Given the description of an element on the screen output the (x, y) to click on. 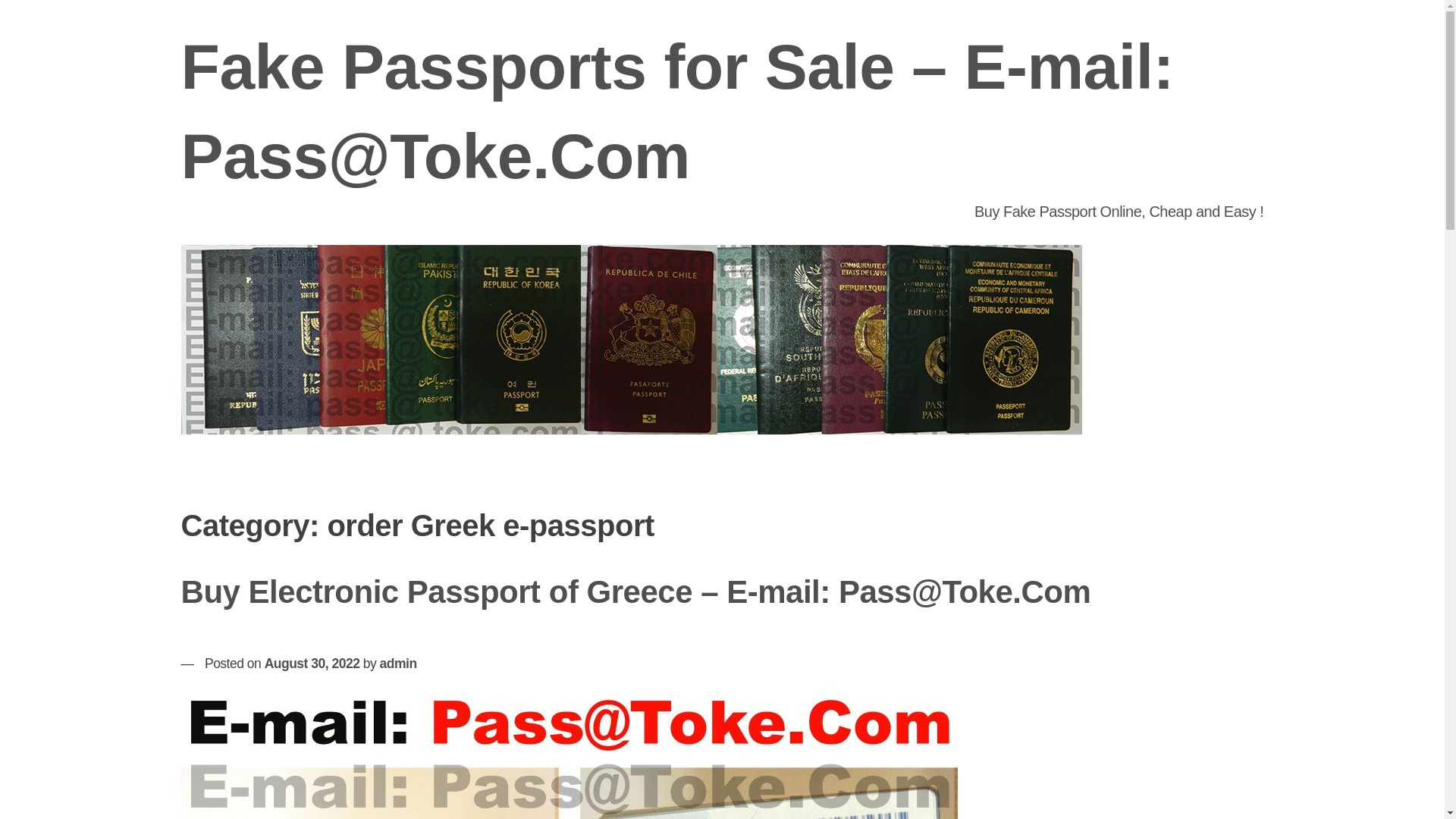
August 30, 2022 (311, 663)
Buy Electronic Passport of Greece (569, 753)
admin (398, 663)
